Given the description of an element on the screen output the (x, y) to click on. 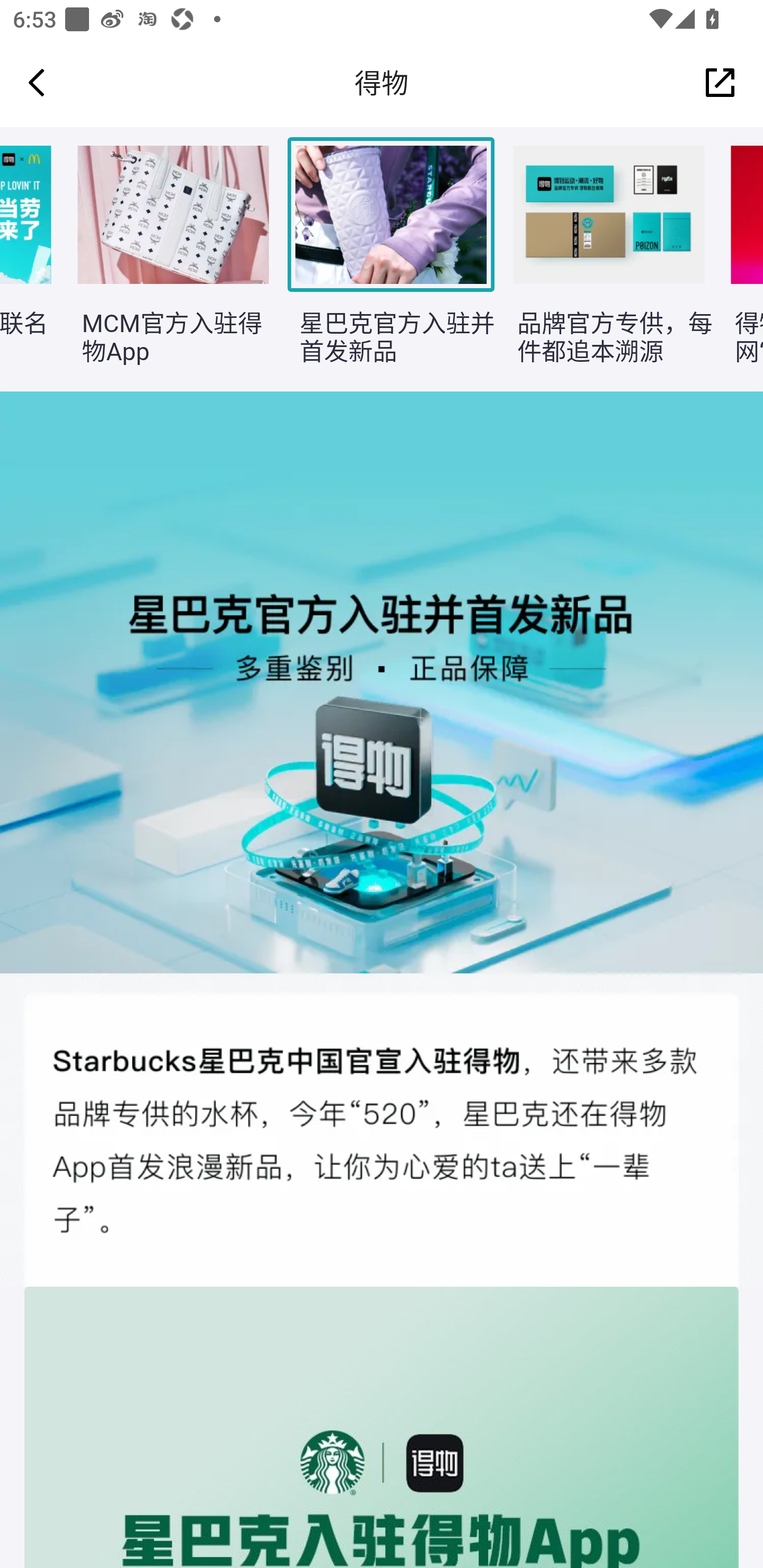
Navigate up (36, 82)
resize,w_306,h_228 MCM官方入驻得物App (162, 259)
resize,w_306,h_228 星巴克官方入驻并首发新品 (380, 259)
resize,w_306,h_228 品牌官方专供，每件都追本溯源 (598, 259)
